Given the description of an element on the screen output the (x, y) to click on. 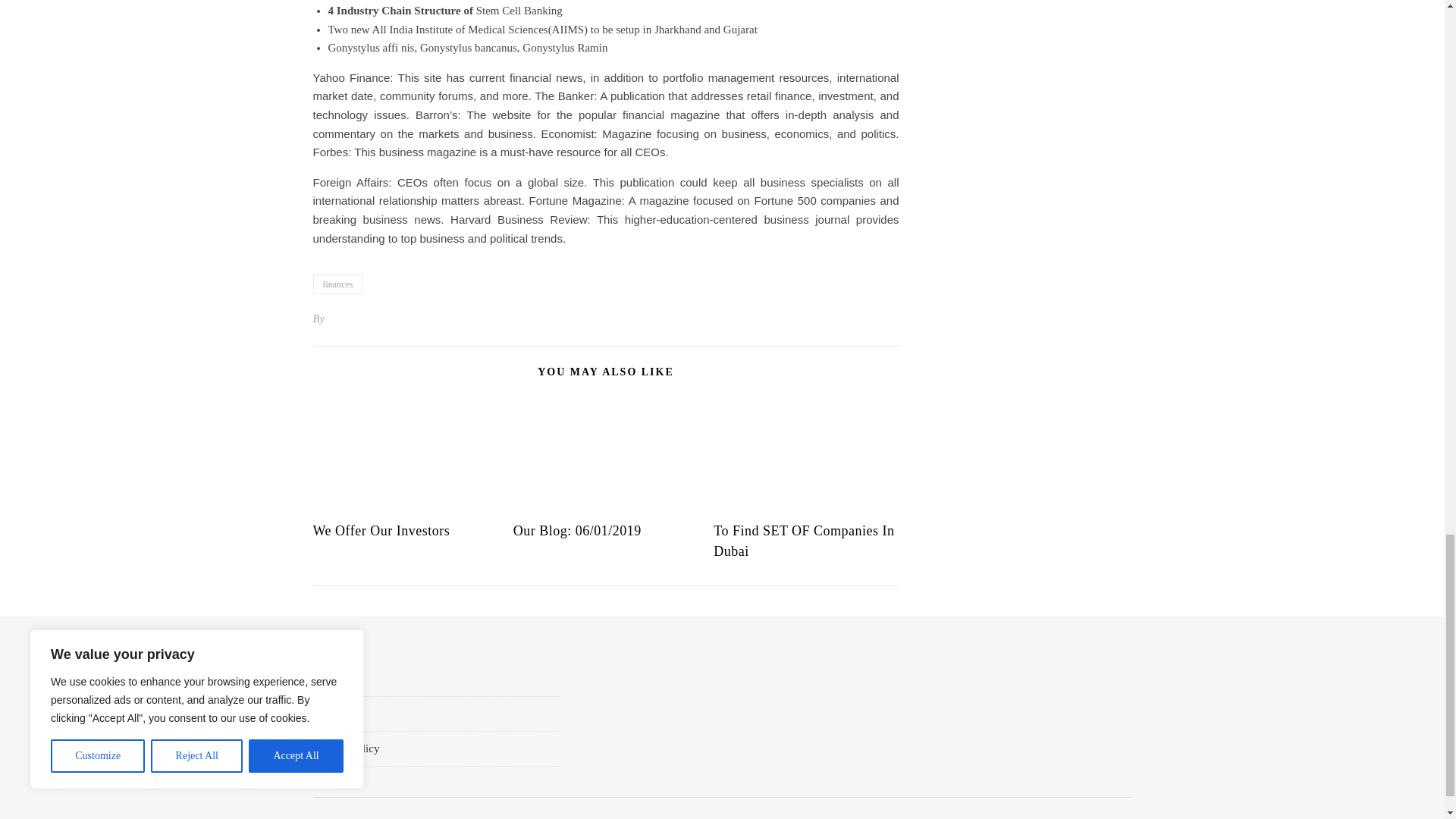
finances (337, 284)
To Find SET OF Companies In Dubai (803, 540)
We Offer Our Investors (381, 530)
